Given the description of an element on the screen output the (x, y) to click on. 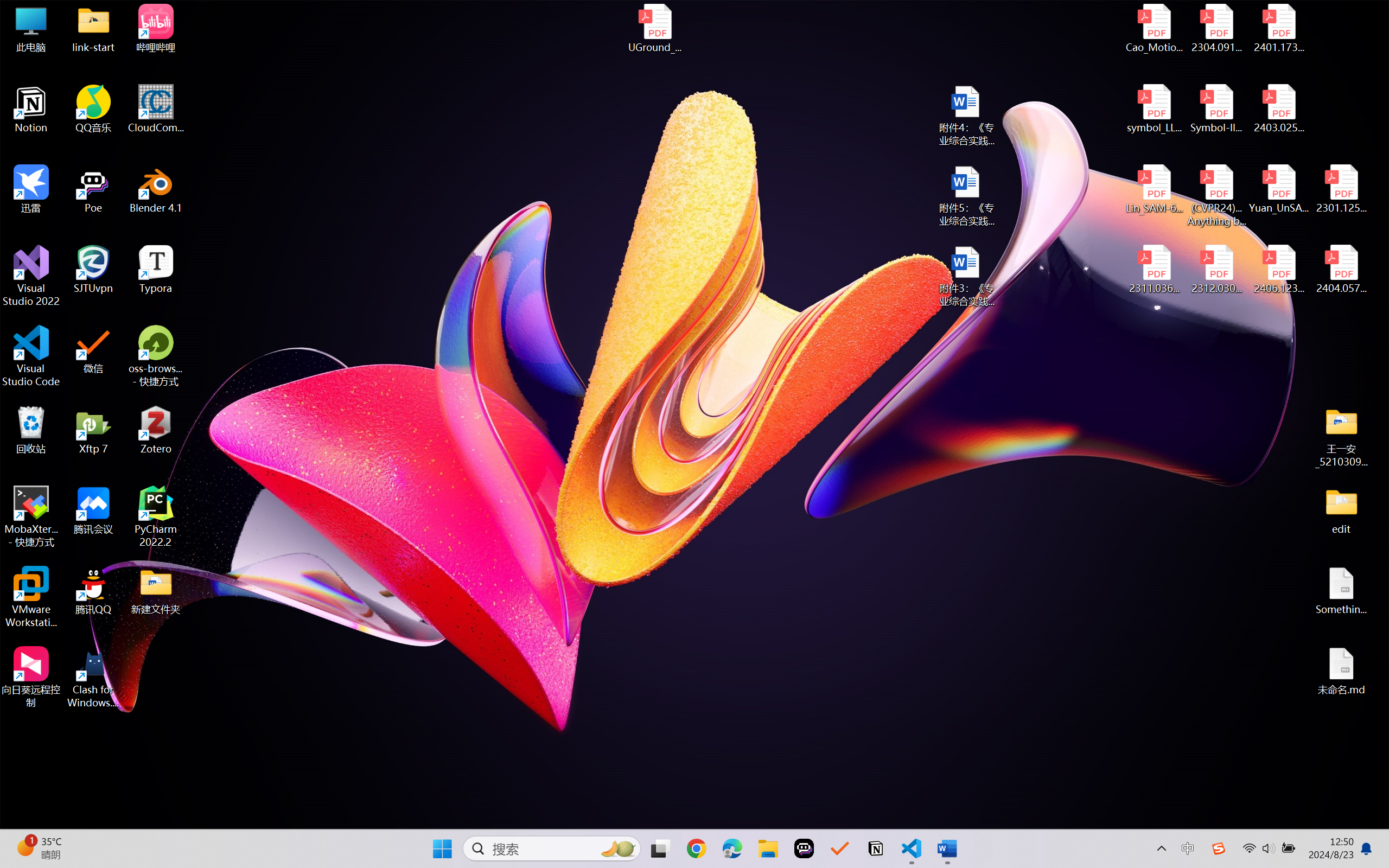
PyCharm 2022.2 (156, 516)
(CVPR24)Matching Anything by Segmenting Anything.pdf (1216, 195)
symbol_LLM.pdf (1154, 109)
edit (1340, 510)
2301.12597v3.pdf (1340, 189)
2401.17399v1.pdf (1278, 28)
Microsoft Edge (731, 848)
Blender 4.1 (156, 189)
2404.05719v1.pdf (1340, 269)
